Given the description of an element on the screen output the (x, y) to click on. 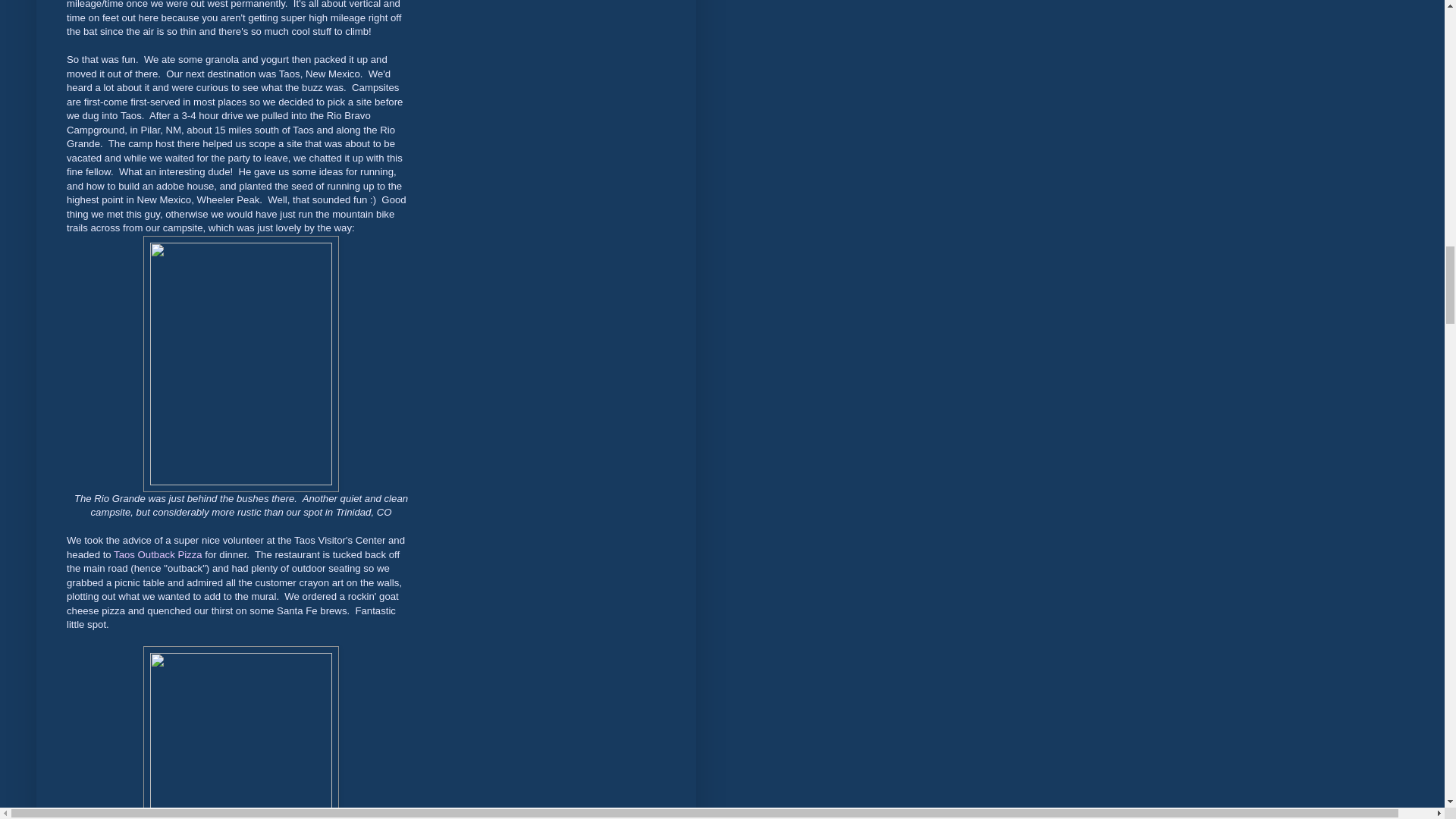
Taos Outback Pizza (157, 554)
